Given the description of an element on the screen output the (x, y) to click on. 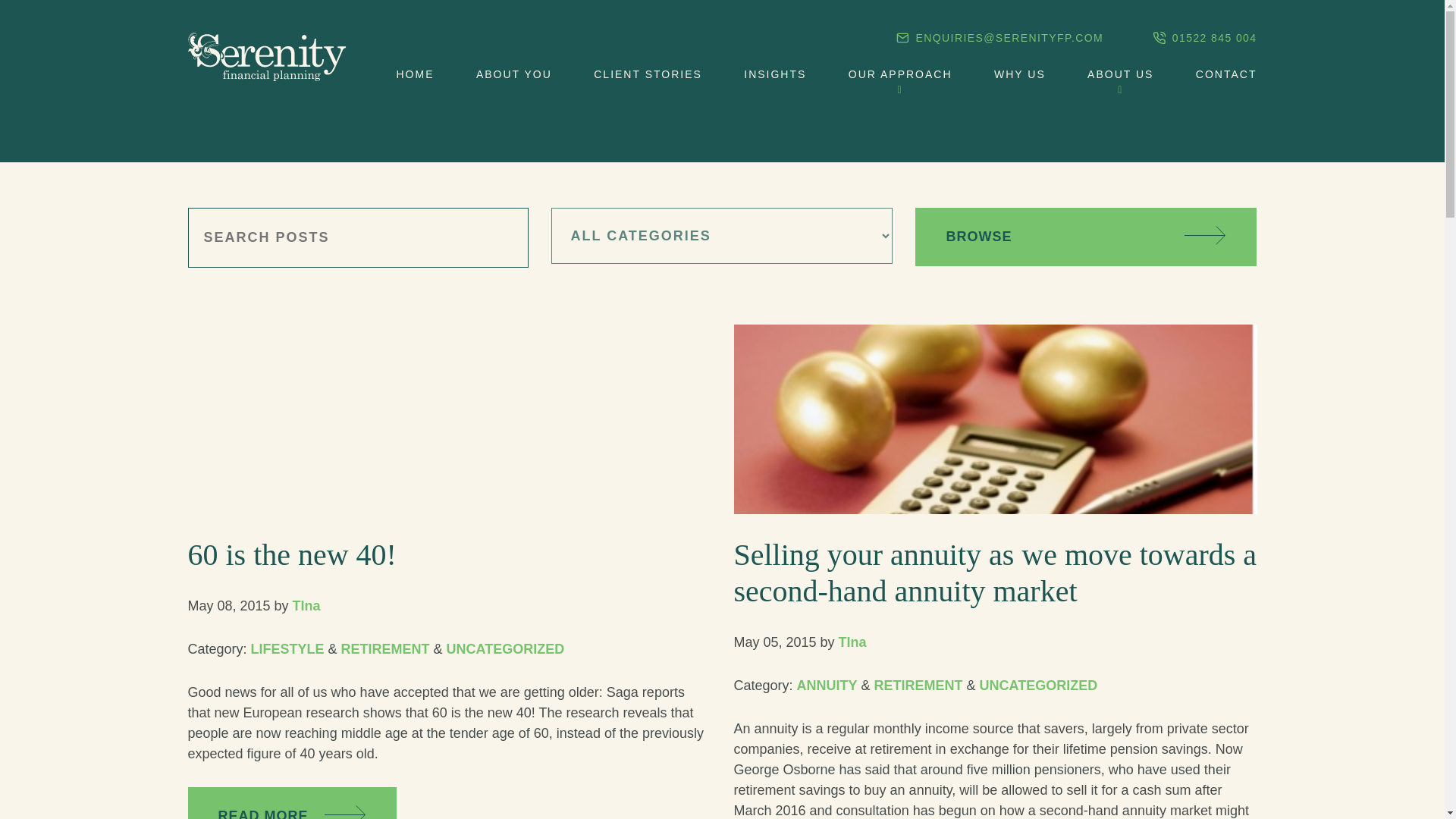
OUR APPROACH (900, 74)
ABOUT YOU (513, 74)
INSIGHTS (775, 74)
ABOUT US (1120, 74)
60 is the new 40! (291, 554)
CLIENT STORIES (647, 74)
TIna (306, 605)
01522 845 004 (1204, 38)
LIFESTYLE (287, 648)
BROWSE (1085, 237)
